Given the description of an element on the screen output the (x, y) to click on. 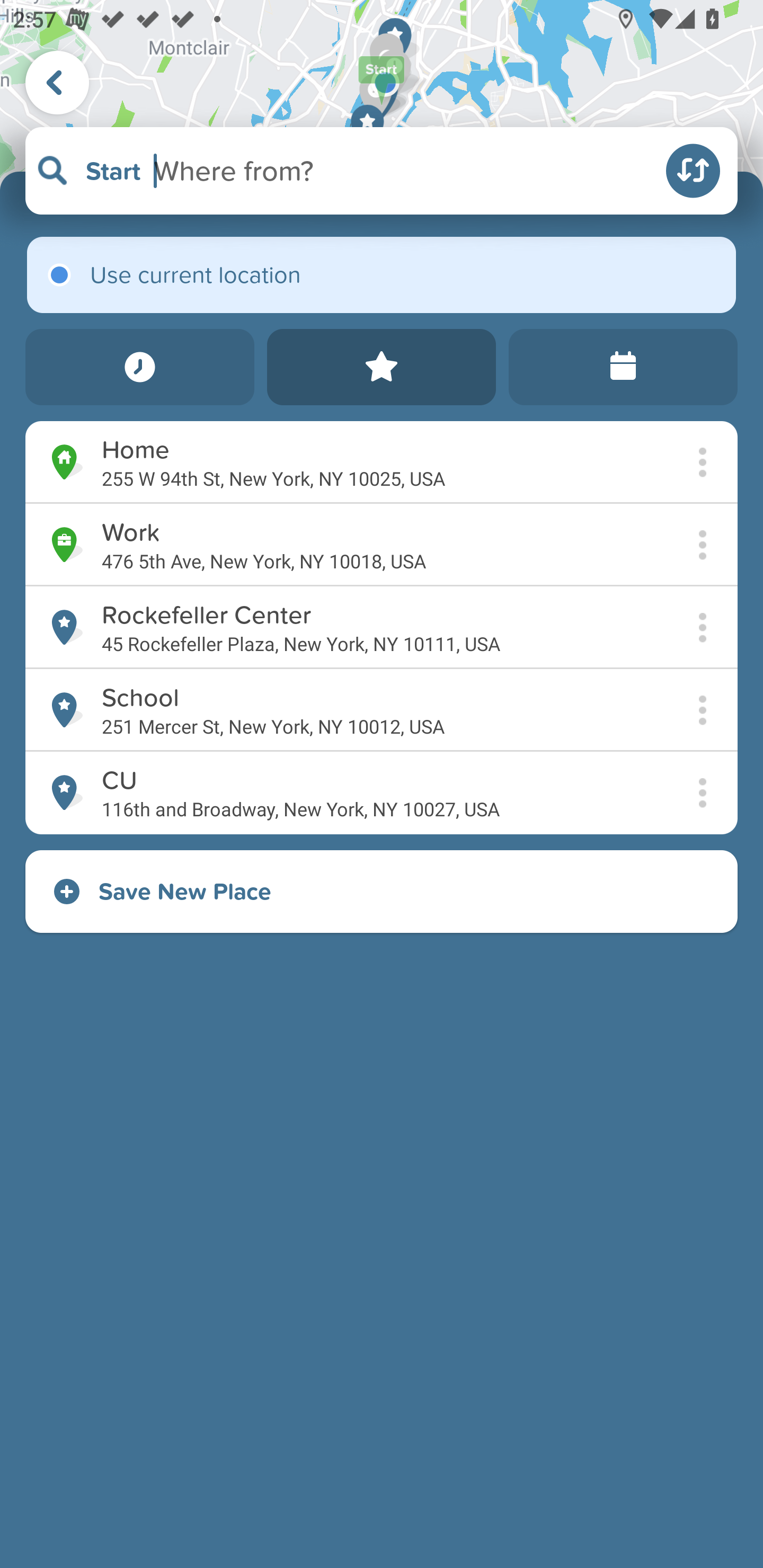
School 251 Mercer St, New York, NY 10012, USA (381, 710)
